Given the description of an element on the screen output the (x, y) to click on. 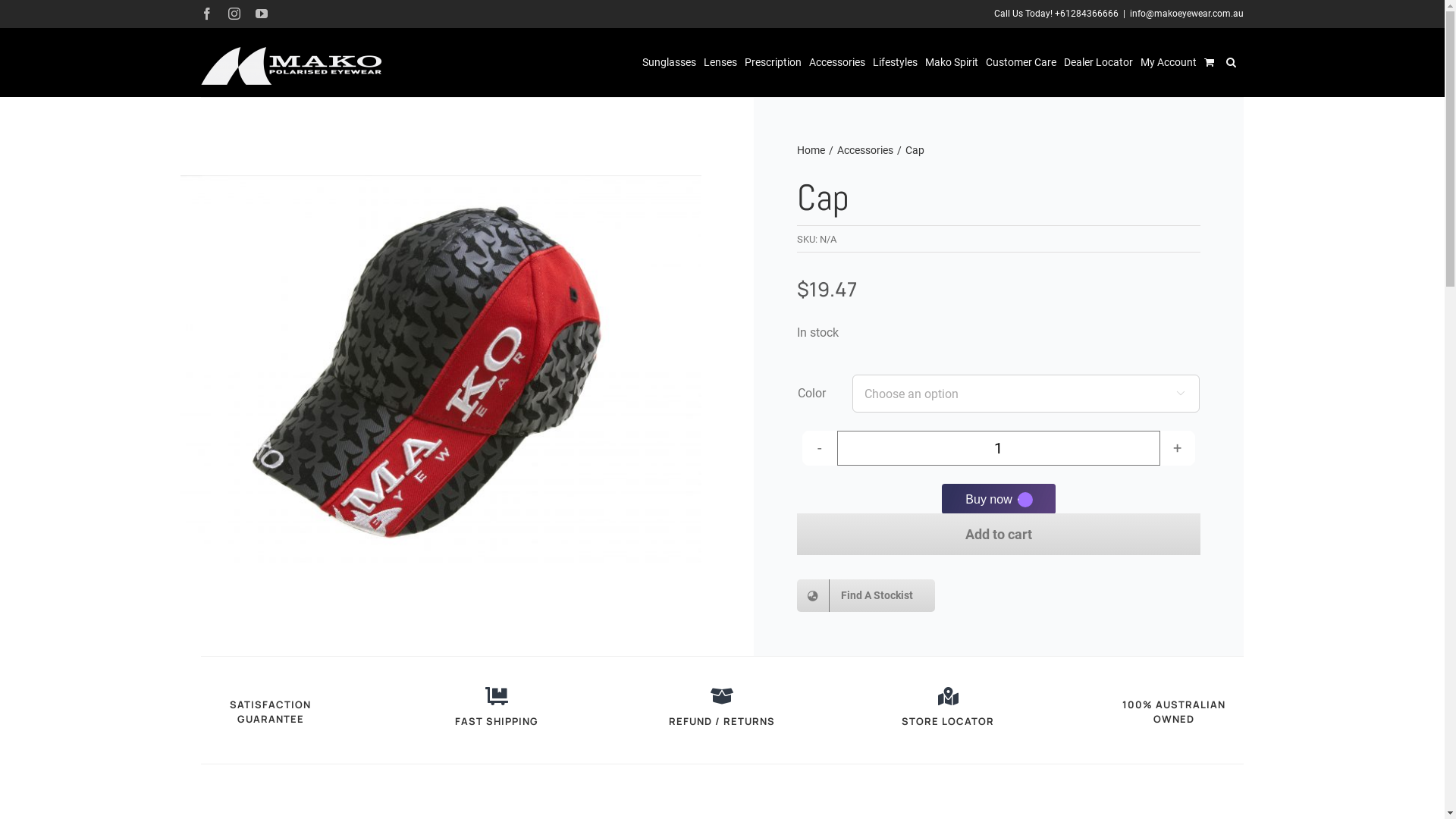
Home Element type: text (811, 150)
YouTube Element type: text (261, 13)
Add to cart Element type: text (998, 534)
Search Element type: hover (1231, 62)
info@makoeyewear.com.au Element type: text (1186, 13)
Mako hat Element type: hover (441, 368)
Sunglasses Element type: text (669, 62)
Customer Care Element type: text (1020, 62)
My Account Element type: text (1168, 62)
Facebook Element type: text (206, 13)
Dealer Locator Element type: text (1097, 62)
Accessories Element type: text (865, 150)
Mako Spirit Element type: text (951, 62)
Find A Stockist Element type: text (866, 595)
Lifestyles Element type: text (894, 62)
Instagram Element type: text (234, 13)
Lenses Element type: text (720, 62)
Prescription Element type: text (772, 62)
STORE LOCATOR Element type: text (947, 721)
Accessories Element type: text (837, 62)
Log In Element type: text (1237, 239)
Secure payment button frame Element type: hover (998, 498)
